Given the description of an element on the screen output the (x, y) to click on. 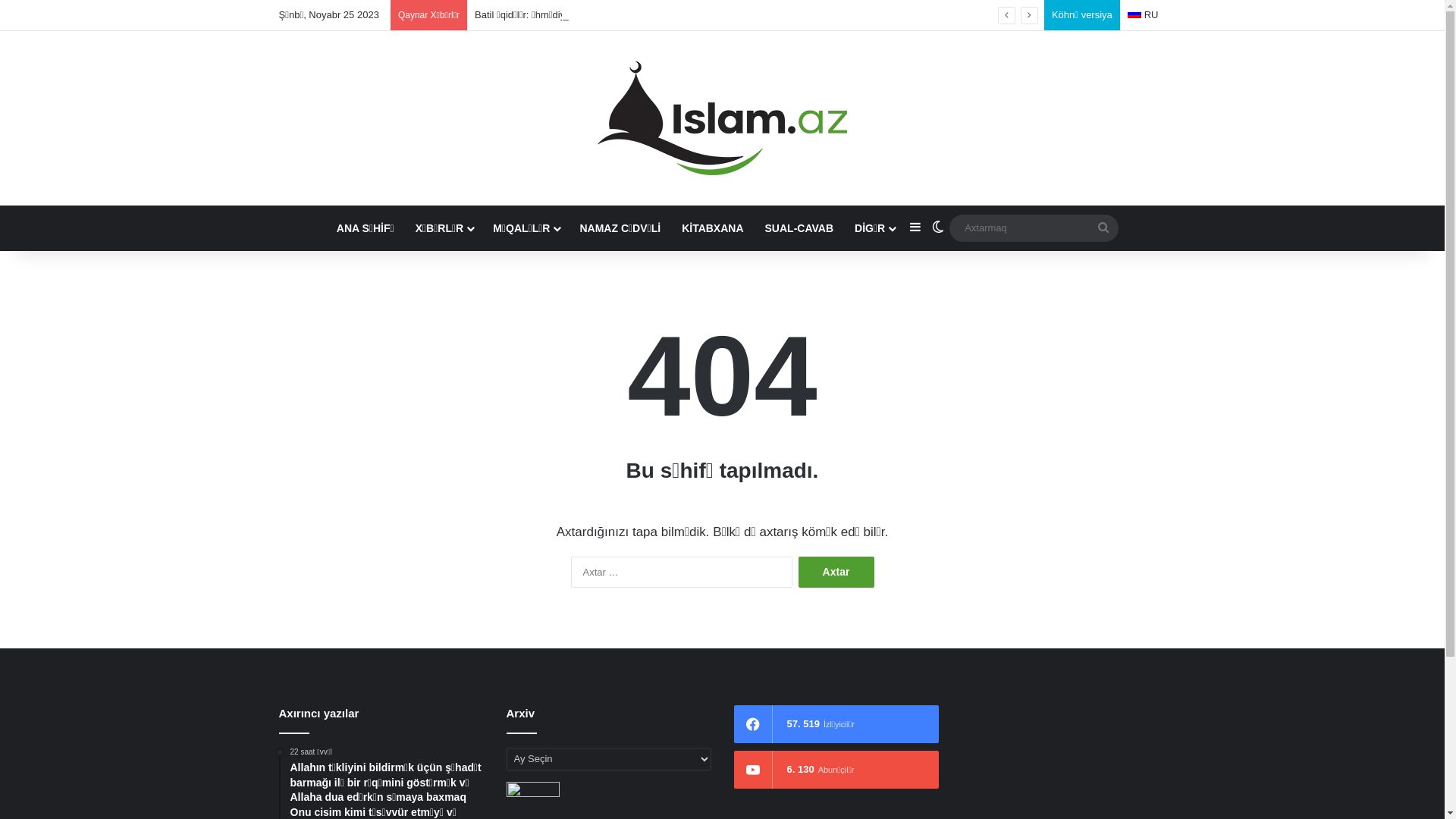
islam.az Element type: hover (722, 118)
Sidebar Element type: text (914, 228)
Switch skin Element type: text (937, 228)
Axtarmaq Element type: text (1103, 227)
Axtar Element type: text (835, 571)
SUAL-CAVAB Element type: text (799, 228)
RU Element type: text (1143, 15)
KITABXANA Element type: text (712, 228)
Axtarmaq Element type: hover (1033, 227)
